Given the description of an element on the screen output the (x, y) to click on. 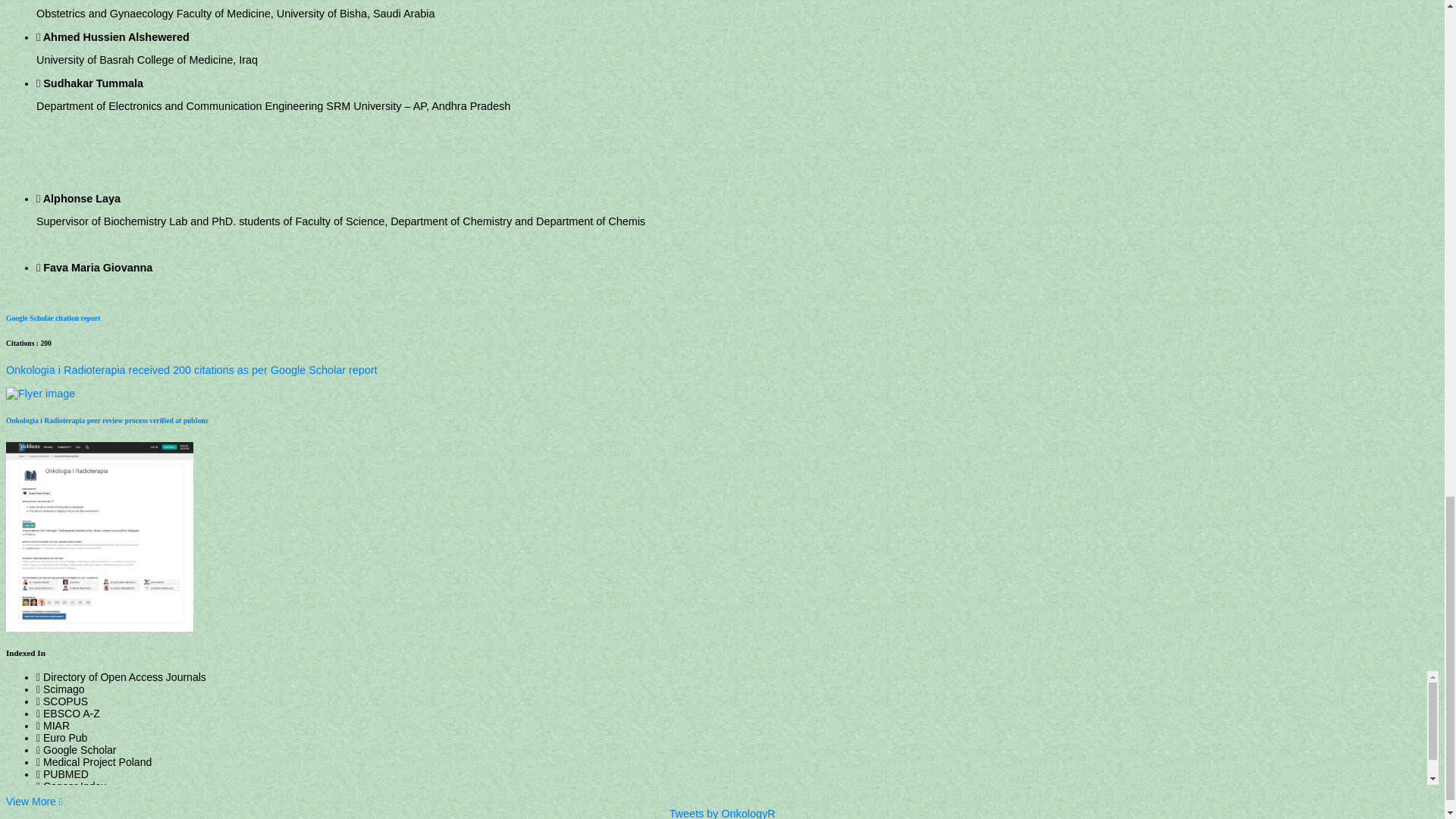
Google Scholar citation report (52, 317)
